Given the description of an element on the screen output the (x, y) to click on. 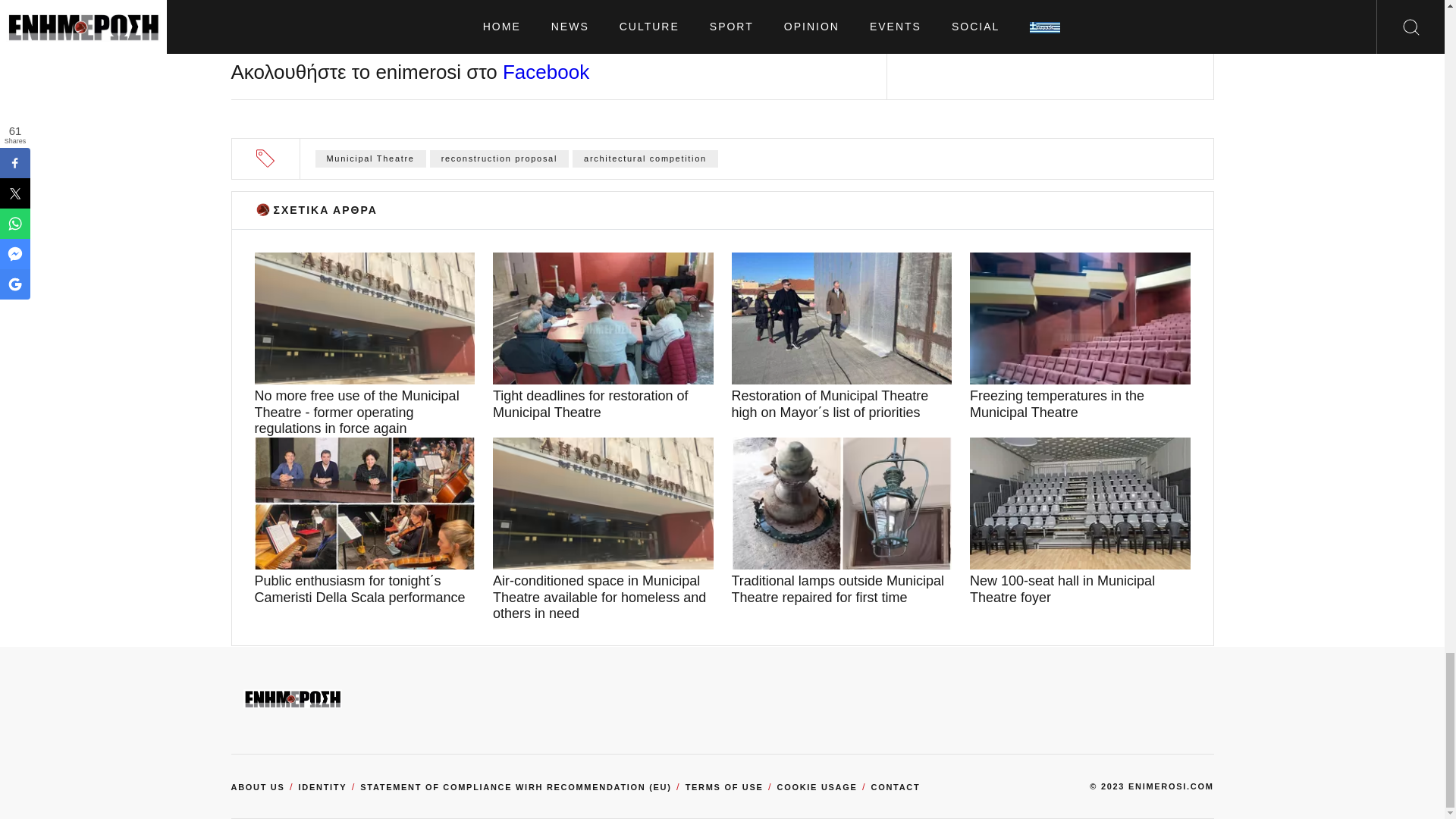
reconstruction proposal (499, 158)
Municipal Theatre (370, 158)
Freezing temperatures in the Municipal Theatre (1080, 404)
architectural competition (644, 158)
Tight deadlines for restoration of Municipal Theatre (603, 404)
Facebook (545, 71)
